Given the description of an element on the screen output the (x, y) to click on. 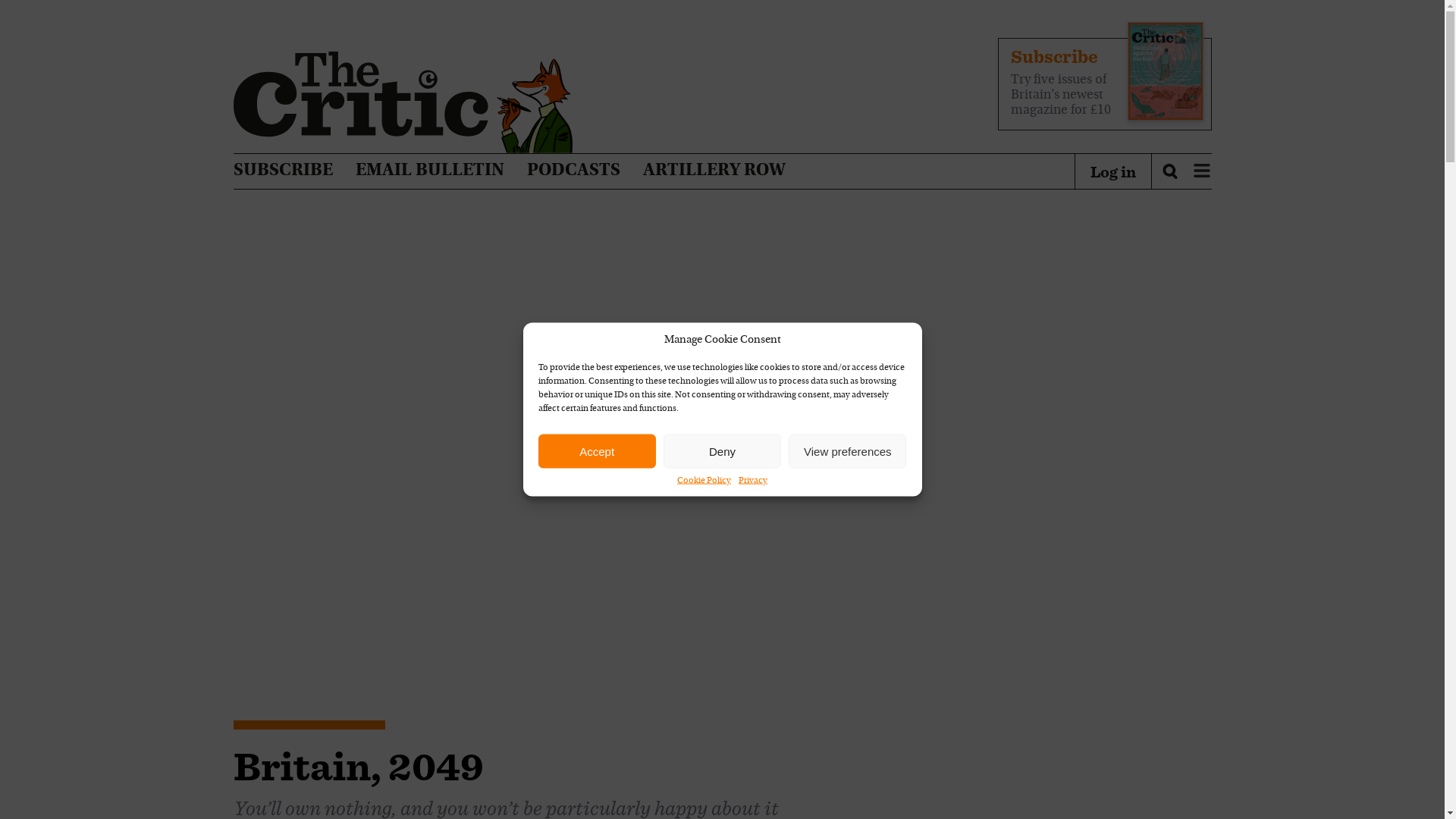
Deny (721, 450)
SUBSCRIBE (282, 171)
PODCASTS (572, 171)
Privacy (752, 480)
ARTILLERY ROW (714, 171)
View preferences (847, 450)
Log in (1112, 171)
Accept (597, 450)
Cookie Policy (703, 480)
EMAIL BULLETIN (429, 171)
